Given the description of an element on the screen output the (x, y) to click on. 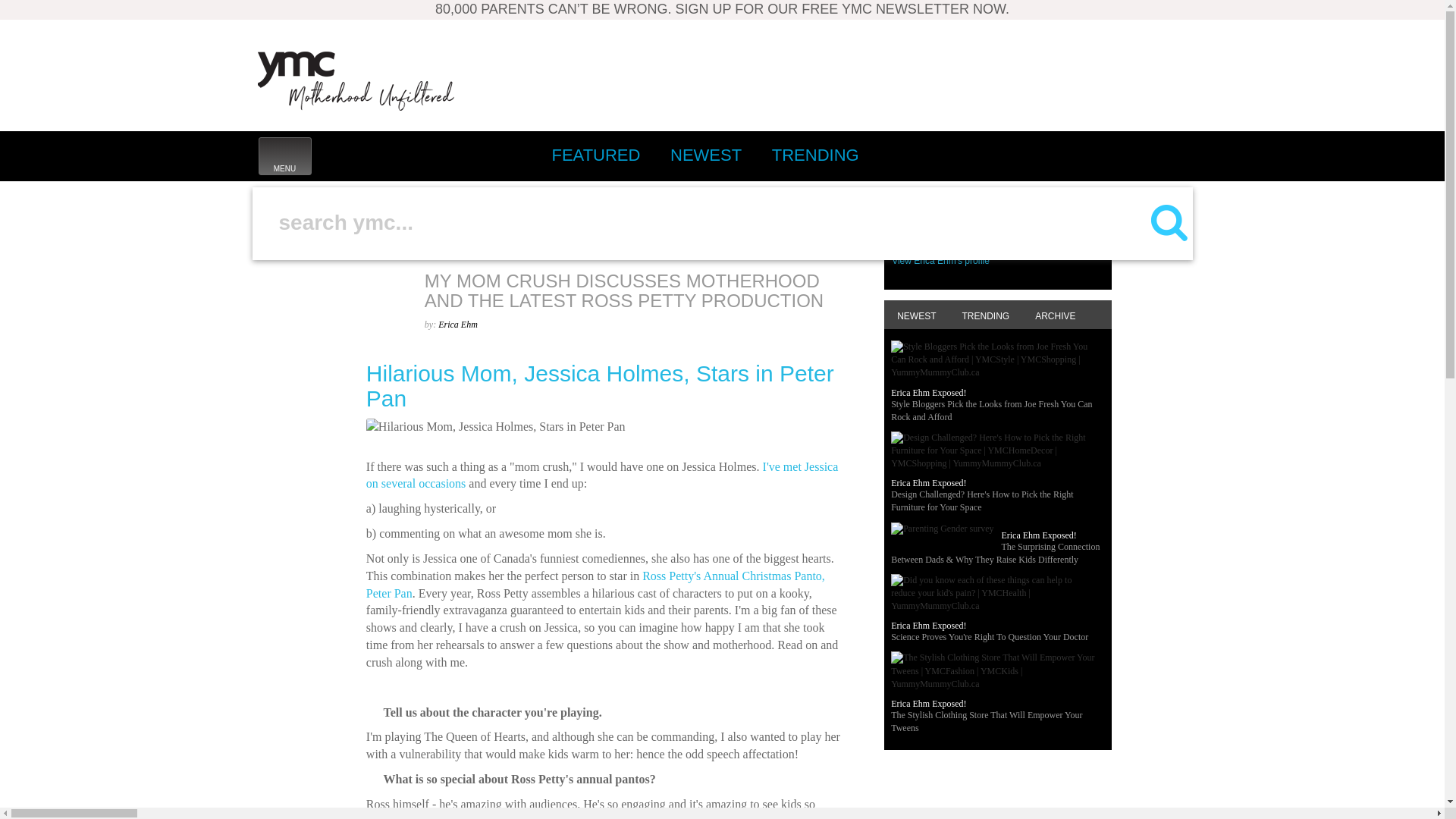
FEATURED (595, 155)
YouTube (1168, 154)
Instagram (1034, 154)
Enter the terms you wish to search for. (704, 222)
Pinterest (284, 156)
Twitter (1068, 154)
Search (1135, 154)
Facebook (275, 276)
Home (1001, 154)
SEARCH (355, 79)
RSS (591, 205)
TRENDING (1101, 154)
NEWEST (815, 155)
